Given the description of an element on the screen output the (x, y) to click on. 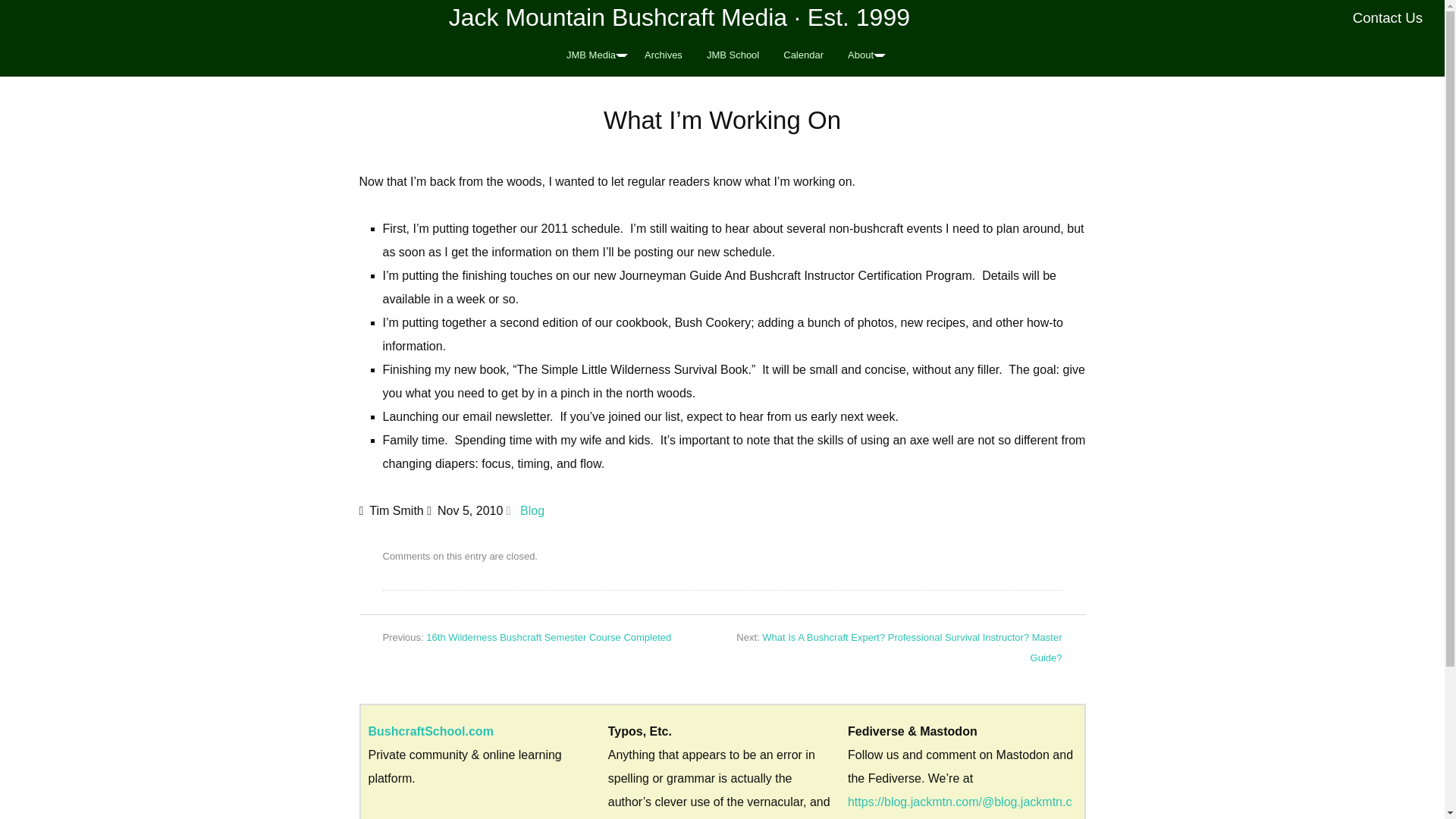
JMB School (732, 55)
2010-11-05 (464, 510)
Archives (662, 55)
About (862, 55)
Contact Us (1387, 17)
JMB Media (592, 55)
Calendar (803, 55)
